Given the description of an element on the screen output the (x, y) to click on. 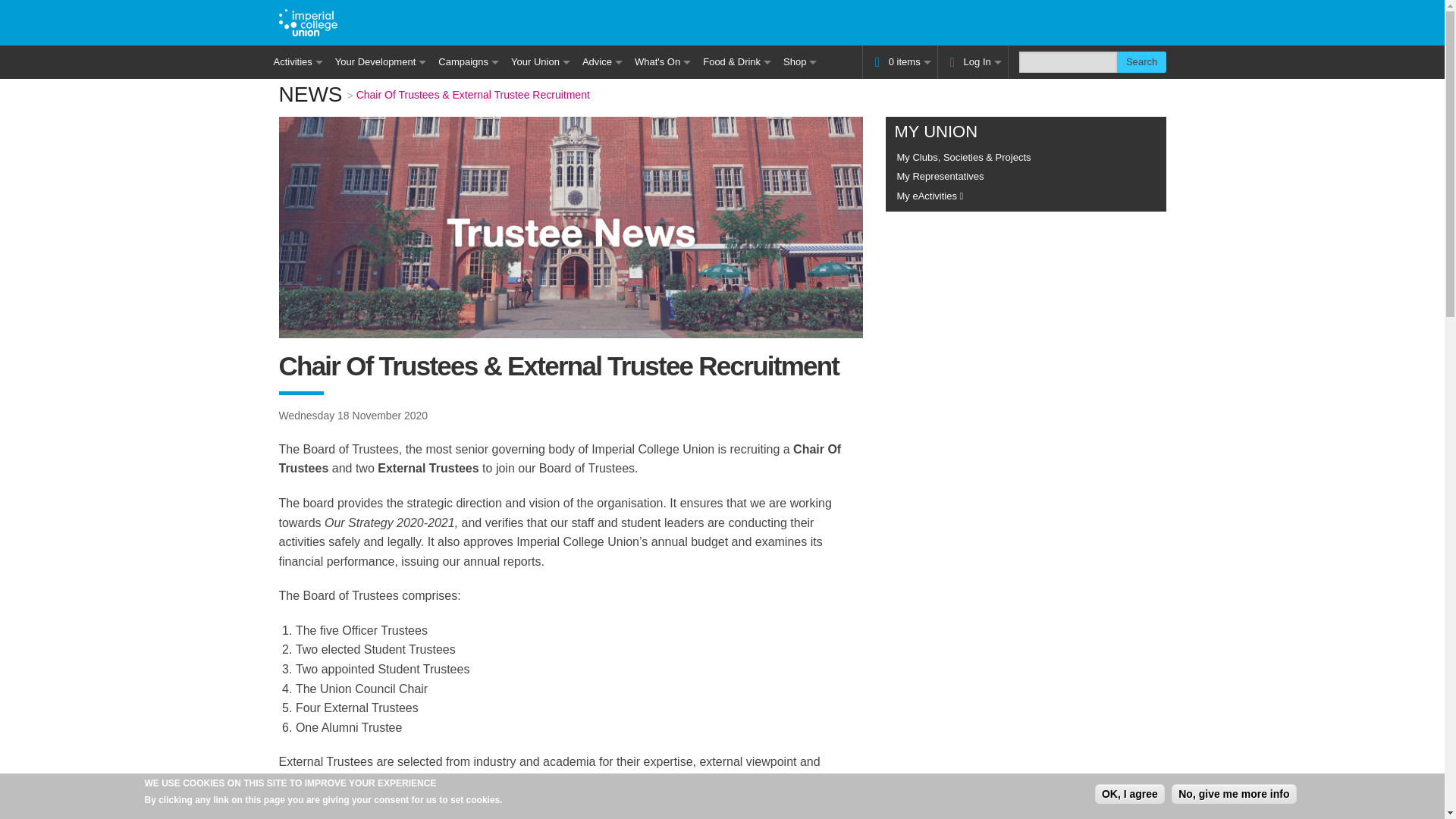
Imperial College Union Home (308, 22)
Activities (297, 61)
Imperial College Union Home (308, 21)
